Given the description of an element on the screen output the (x, y) to click on. 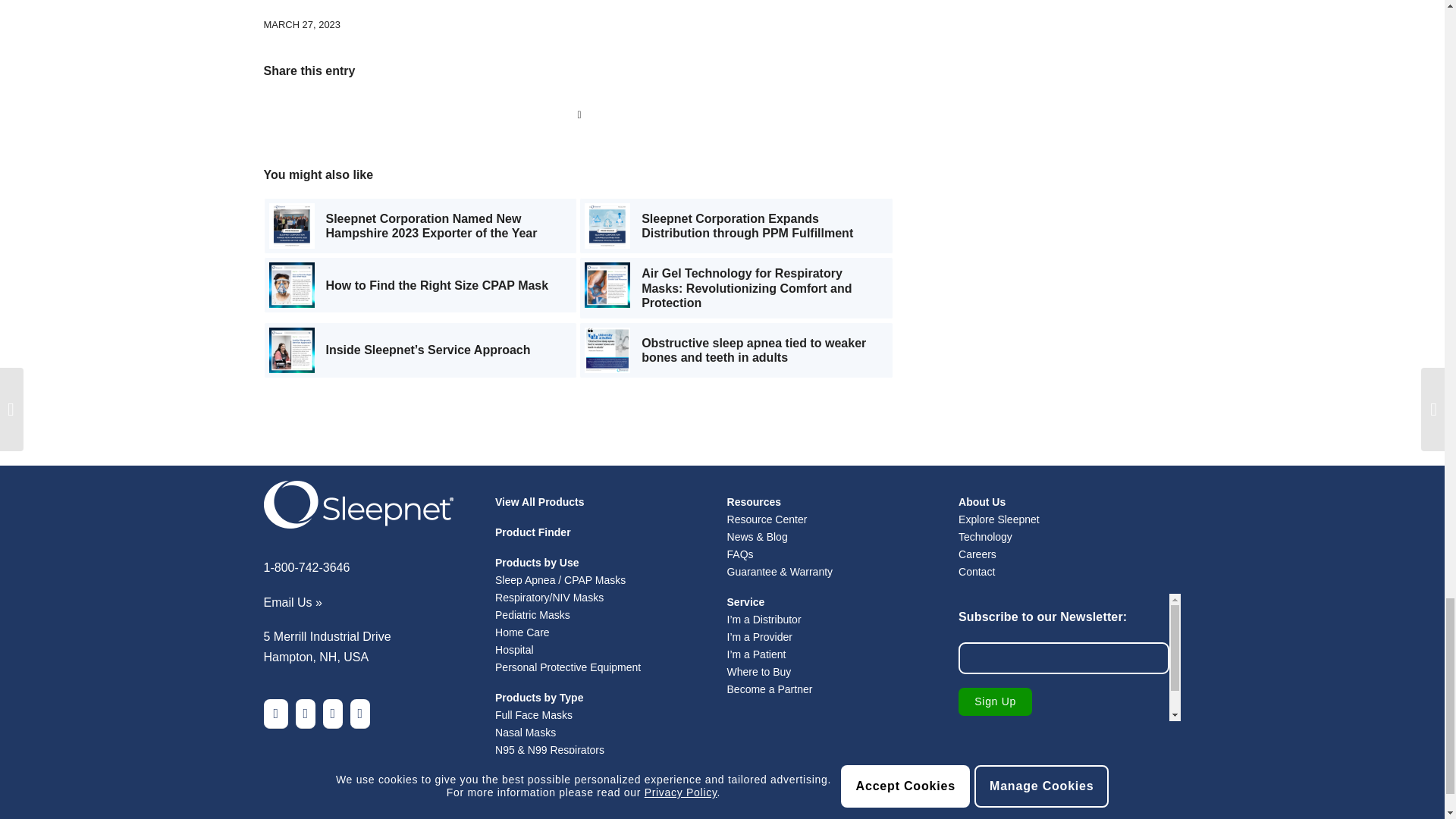
How-to-Find-the-Right-Size-CPAP-Mask (290, 284)
How to Find the Right Size CPAP Mask (420, 284)
Sleepnet PR (290, 225)
Inside-Sleepnets-Service-Approach (290, 350)
